Given the description of an element on the screen output the (x, y) to click on. 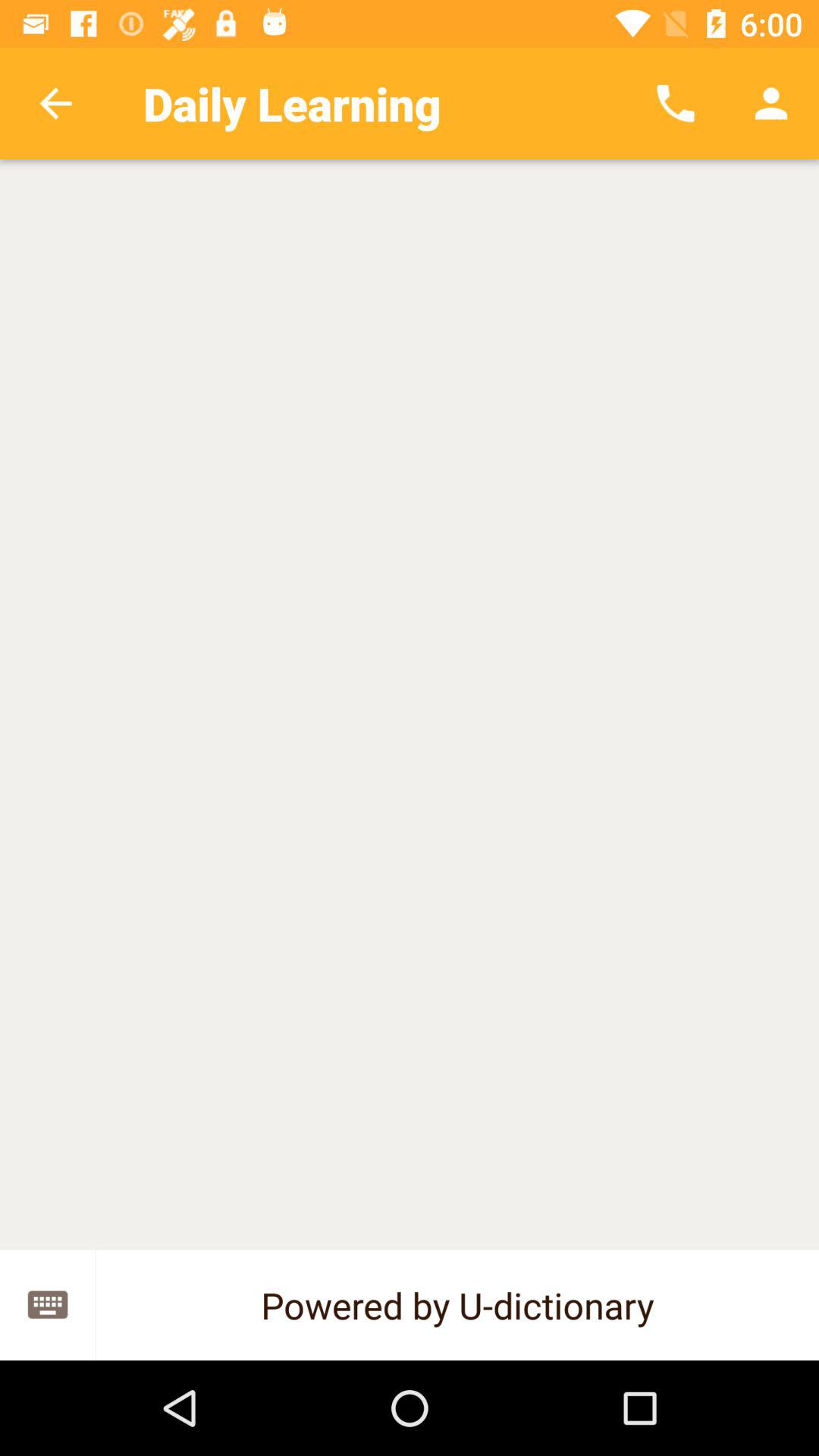
go back (55, 103)
